Given the description of an element on the screen output the (x, y) to click on. 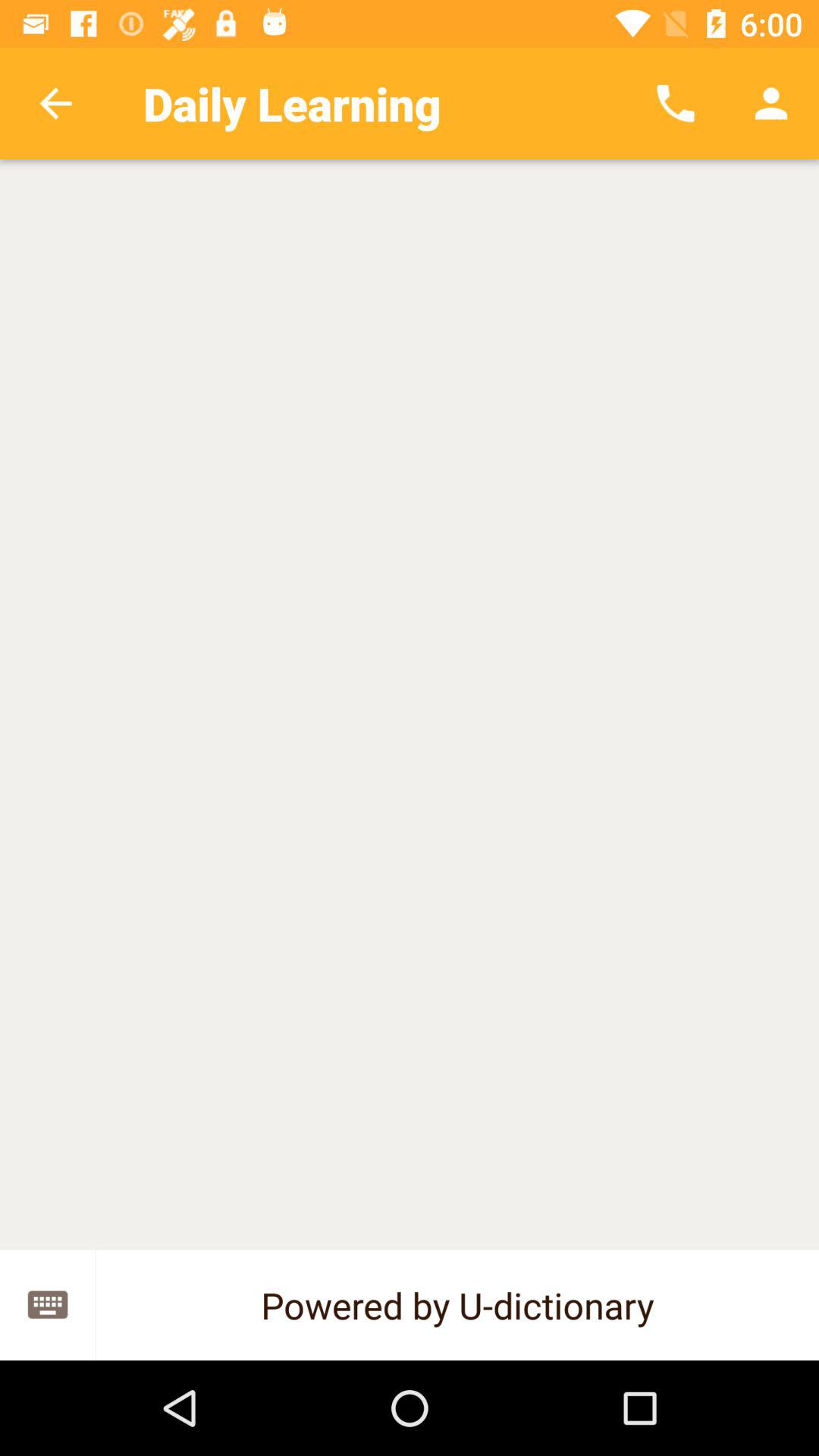
go back (55, 103)
